Given the description of an element on the screen output the (x, y) to click on. 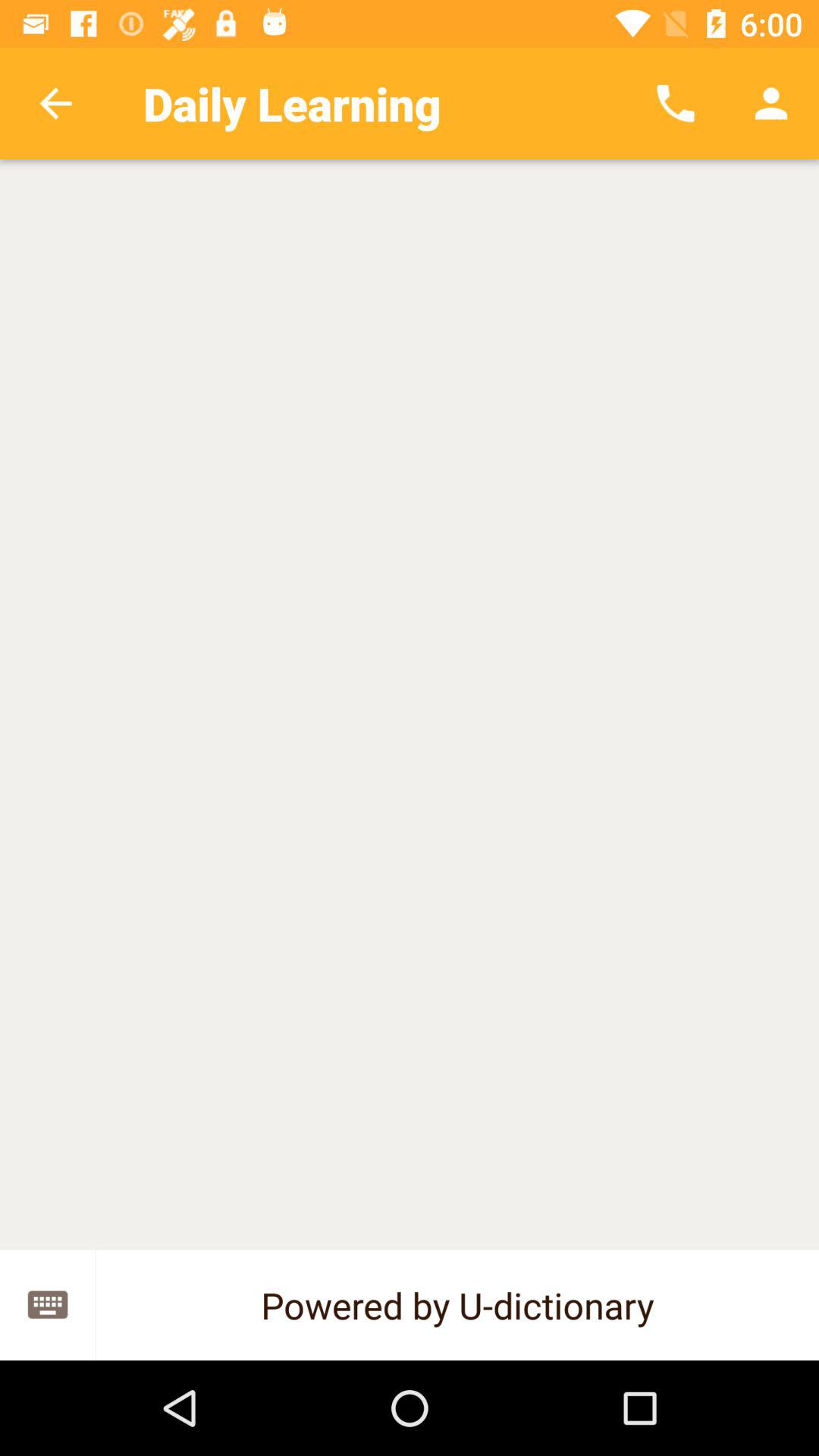
go back (55, 103)
